Given the description of an element on the screen output the (x, y) to click on. 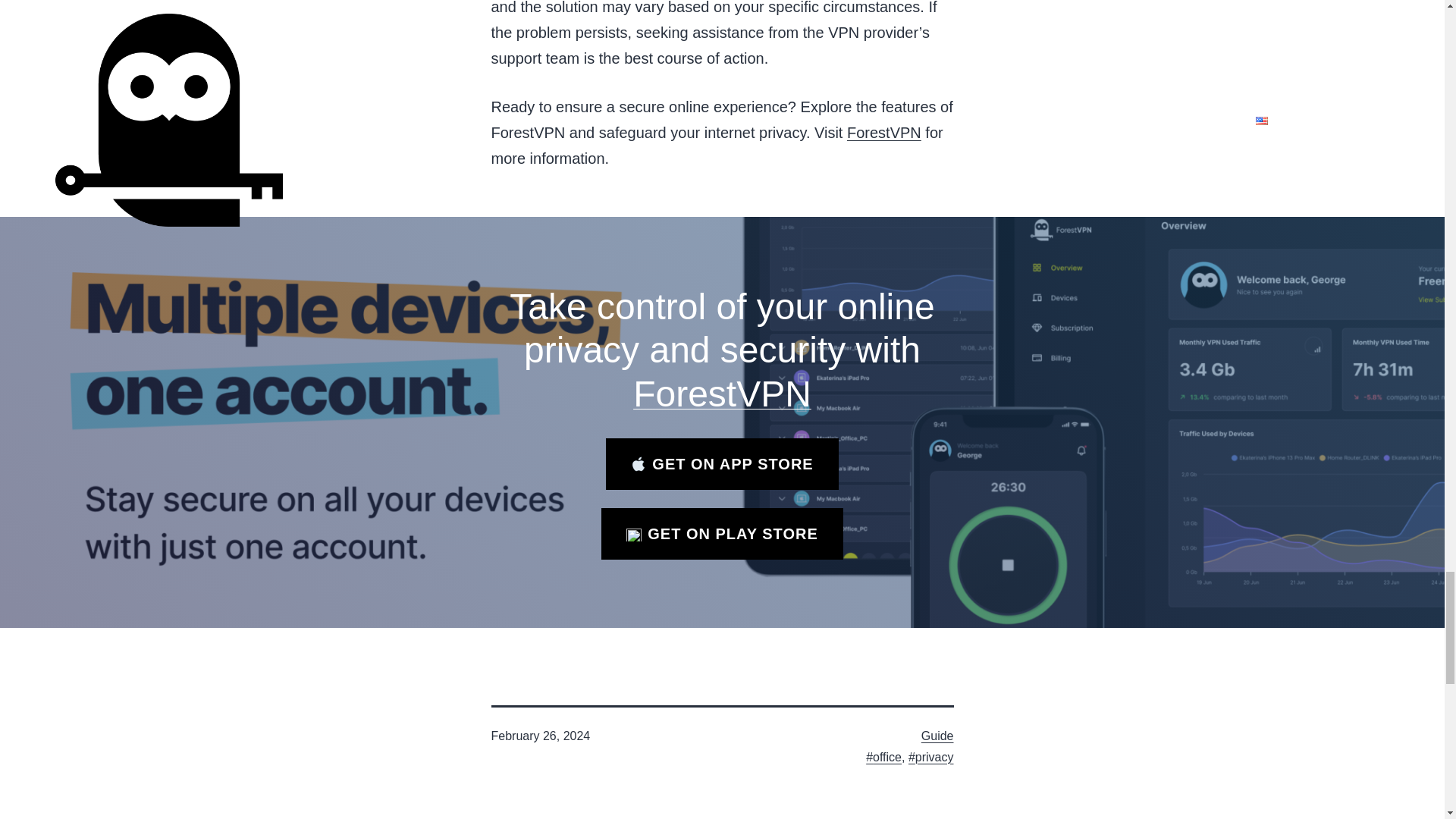
GET ON APP STORE (721, 463)
ForestVPN (721, 393)
GET ON PLAY STORE (722, 533)
office (883, 757)
ForestVPN (884, 132)
Guide (937, 735)
privacy (930, 757)
